Given the description of an element on the screen output the (x, y) to click on. 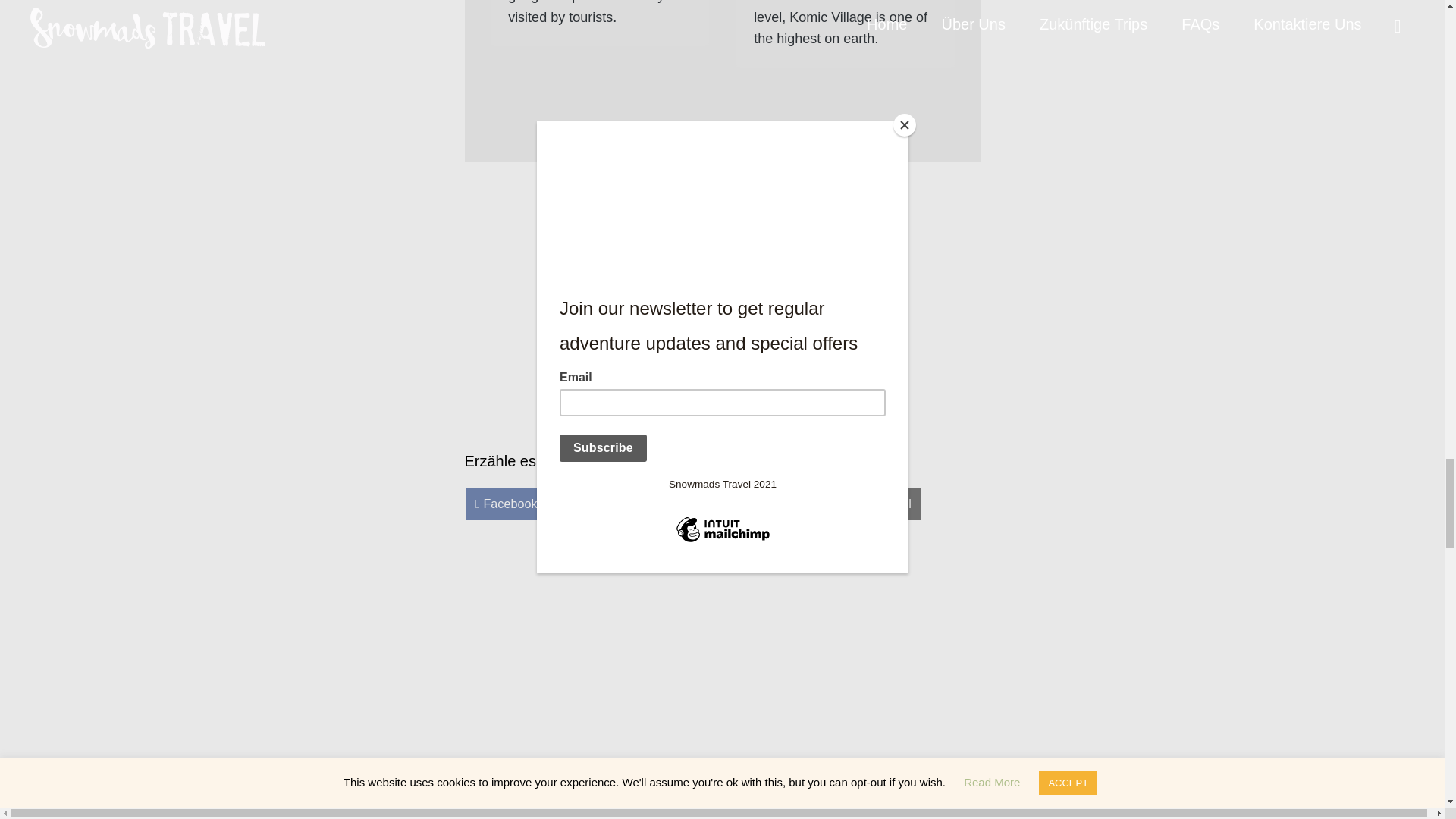
Link to share on facebook (506, 503)
Link to share on twitter (675, 503)
